Given the description of an element on the screen output the (x, y) to click on. 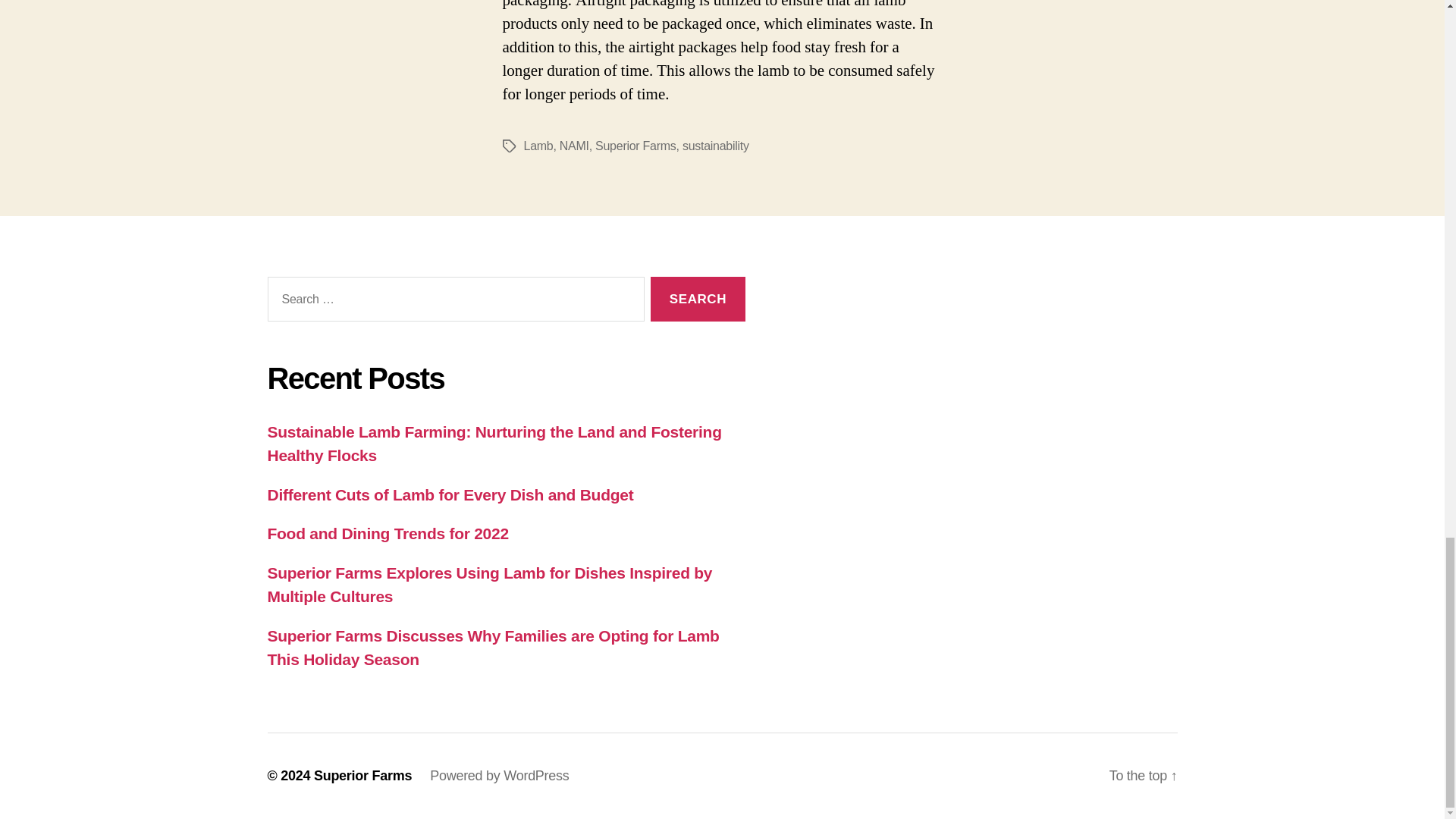
Superior Farms (363, 775)
NAMI (574, 145)
Lamb (537, 145)
Search (697, 298)
sustainability (715, 145)
Superior Farms (635, 145)
Search (697, 298)
Search (697, 298)
Powered by WordPress (499, 775)
